Given the description of an element on the screen output the (x, y) to click on. 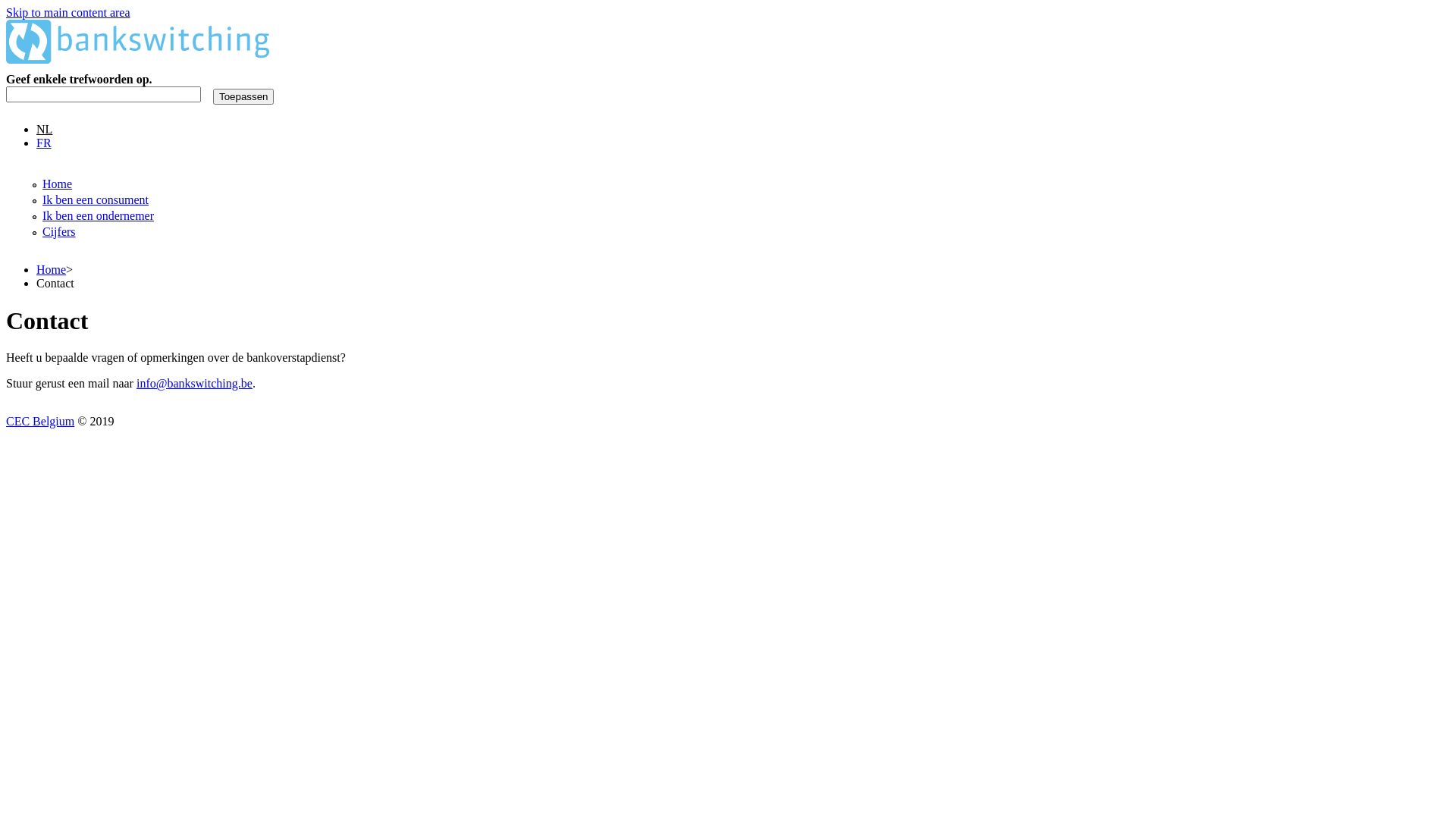
NL Element type: text (44, 128)
Home Element type: text (50, 269)
Toepassen Element type: text (243, 96)
info@bankswitching.be Element type: text (194, 382)
FR Element type: text (43, 142)
CEC Belgium Element type: text (40, 420)
Home Element type: text (57, 183)
Skip to main content area Element type: text (68, 12)
Ik ben een ondernemer Element type: text (97, 215)
Cijfers Element type: text (58, 231)
Ik ben een consument Element type: text (95, 199)
Home Element type: hover (137, 59)
